Given the description of an element on the screen output the (x, y) to click on. 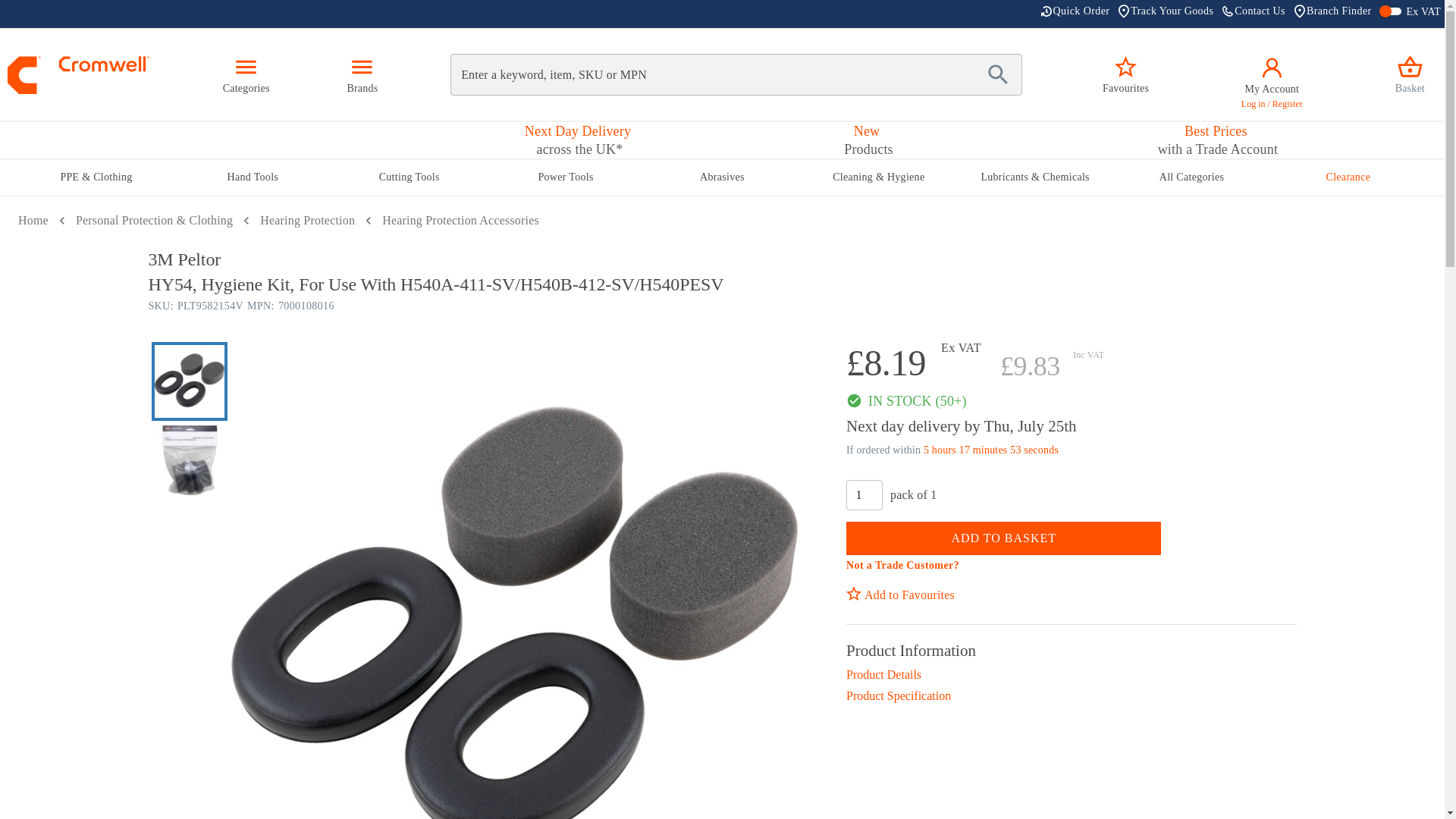
Clearance (1347, 176)
ADD TO BASKET (1002, 538)
Not a Trade Customer? (902, 564)
Power Tools (565, 176)
Cutting Tools (408, 176)
Contact Us (866, 140)
Abrasives (1254, 14)
Hearing Protection Accessories (722, 176)
1 (459, 219)
Track Your Goods (863, 494)
Branch Finder (1165, 14)
Quick Order (1332, 14)
3M Peltor (1075, 14)
Categories (721, 259)
